Given the description of an element on the screen output the (x, y) to click on. 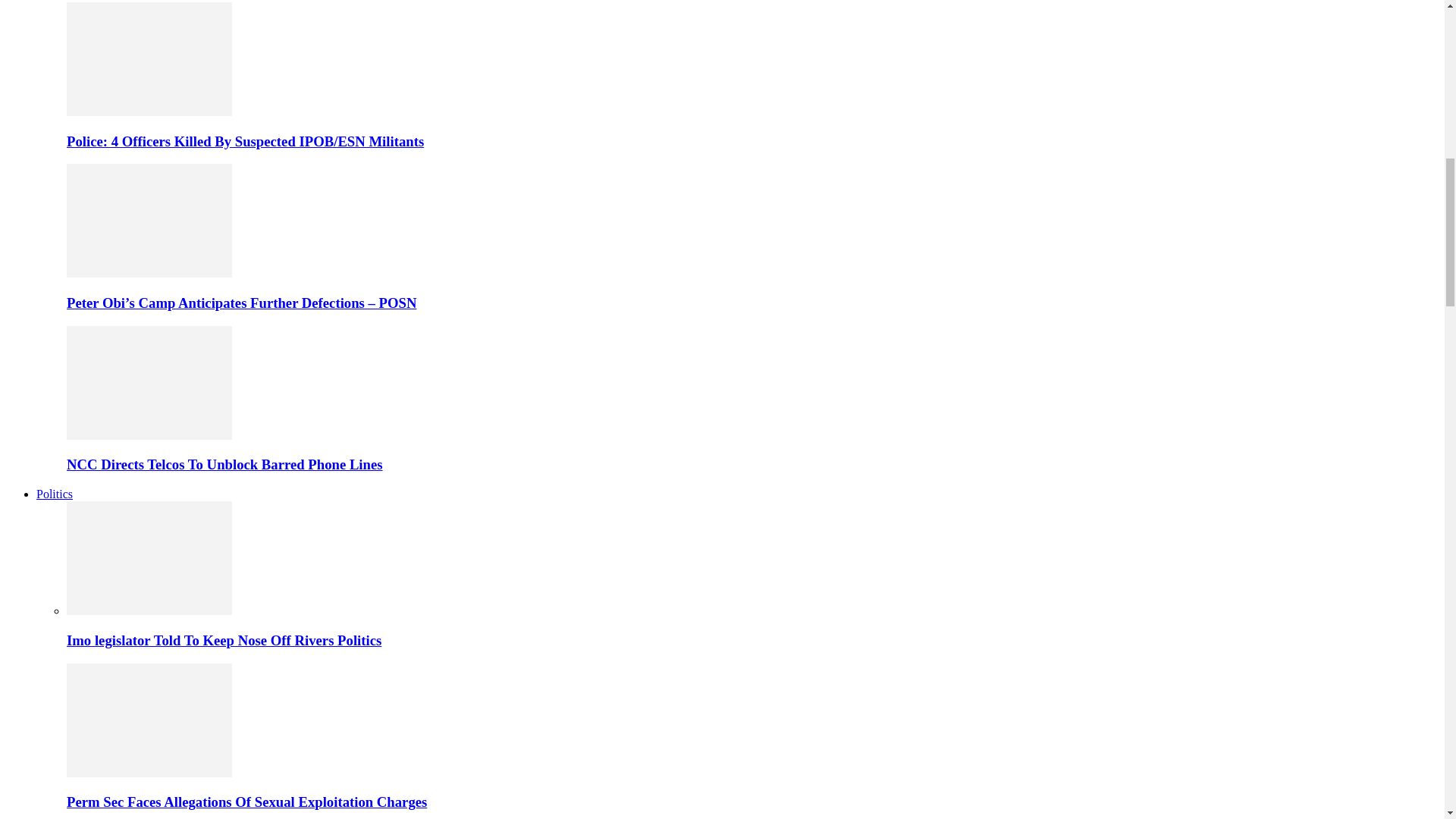
NCC Directs Telcos To Unblock Barred Phone Lines (224, 464)
